Given the description of an element on the screen output the (x, y) to click on. 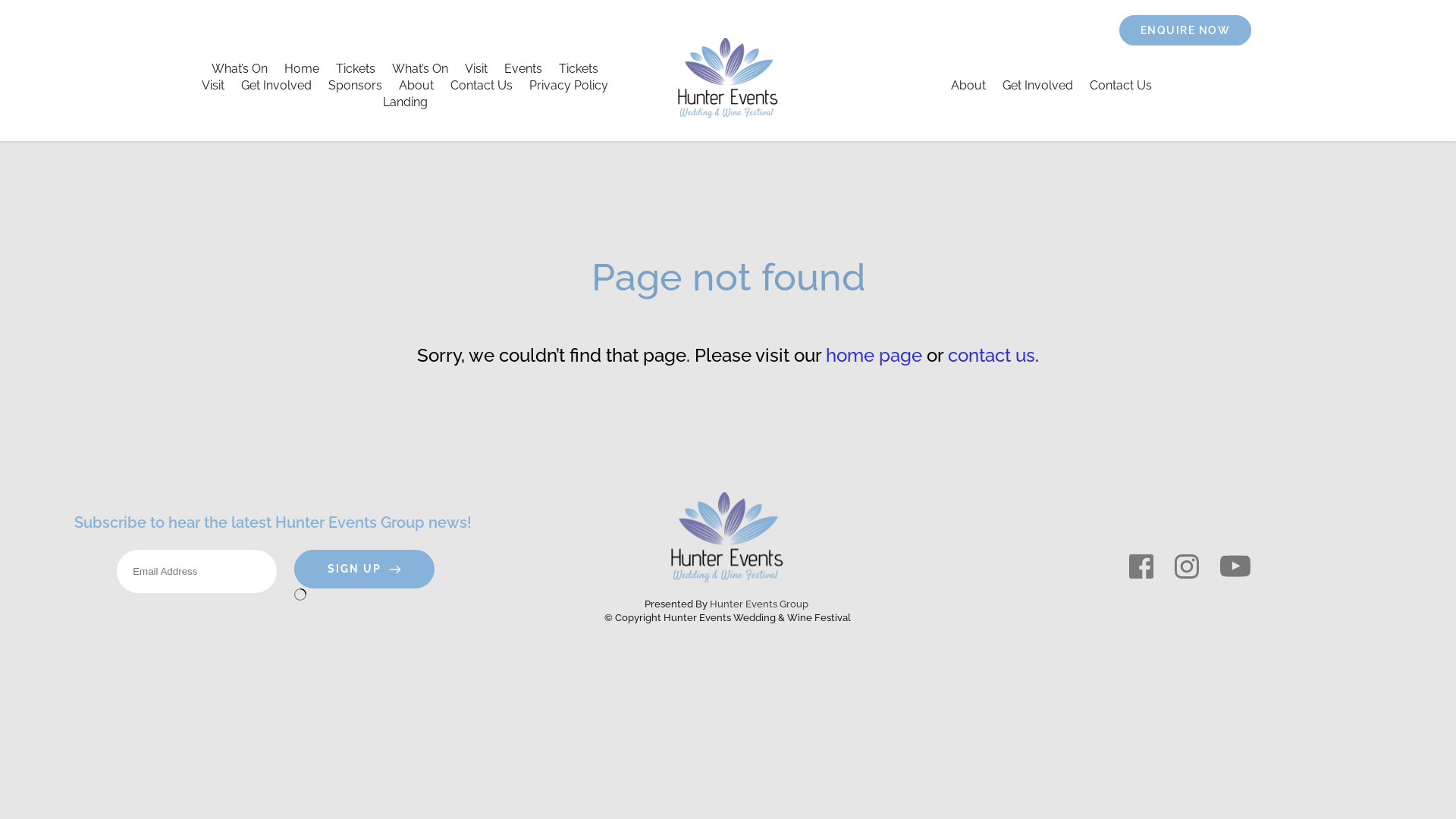
Sponsors Element type: text (354, 85)
Hunter Events Group Element type: text (758, 603)
Contact Us Element type: text (481, 85)
SIGN UP Element type: text (364, 569)
home page Element type: text (873, 355)
Privacy Policy Element type: text (568, 85)
Landing Element type: text (405, 102)
ENQUIRE NOW Element type: text (1185, 30)
Get Involved Element type: text (1036, 85)
contact us Element type: text (991, 355)
Tickets Element type: text (355, 68)
About Element type: text (416, 85)
Contact Us Element type: text (1120, 85)
Get Involved Element type: text (276, 85)
Events Element type: text (523, 68)
Tickets Element type: text (578, 68)
About Element type: text (967, 85)
Visit Element type: text (212, 85)
Home Element type: text (301, 68)
Visit Element type: text (476, 68)
